Given the description of an element on the screen output the (x, y) to click on. 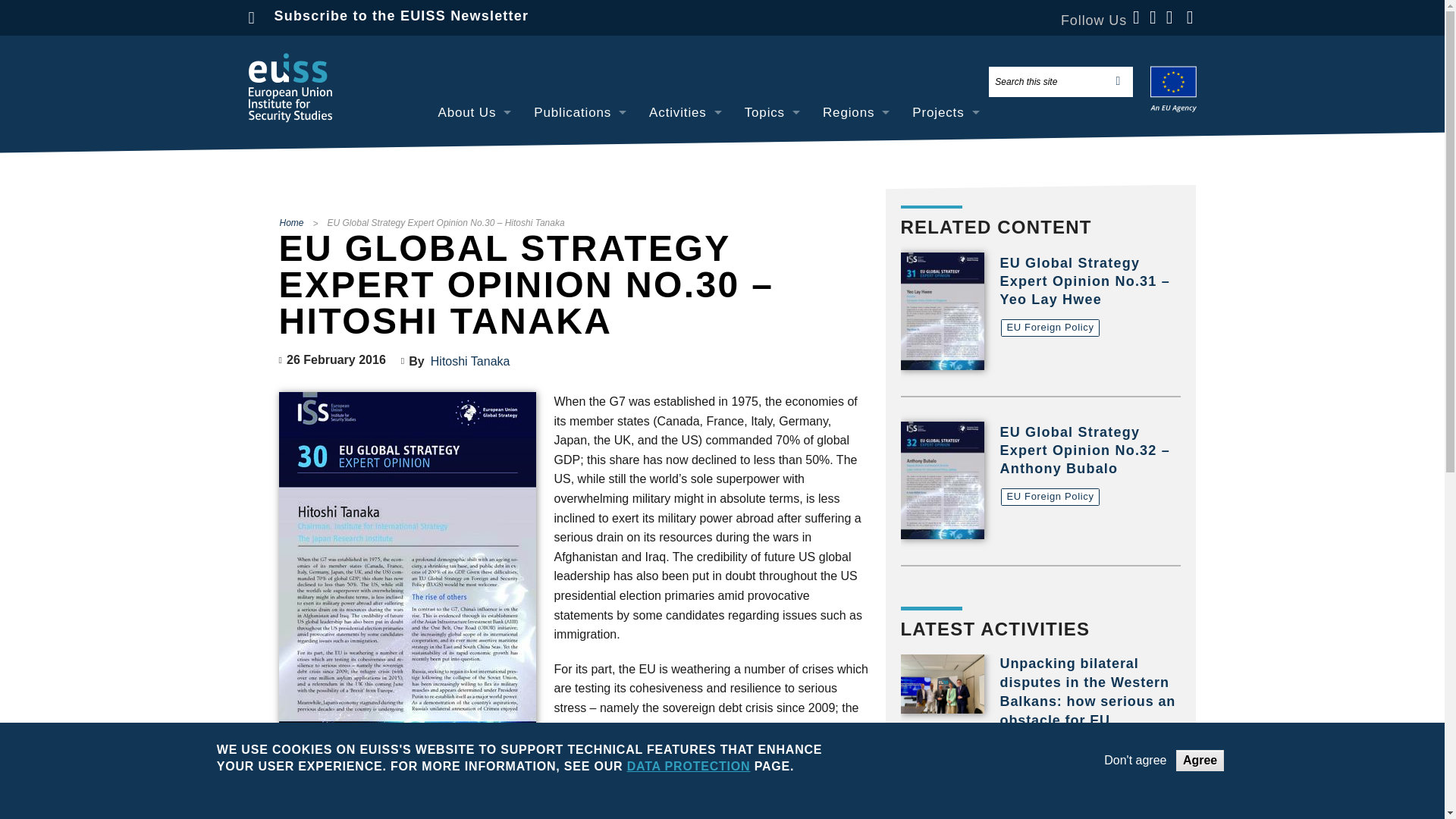
EU foreign policy (771, 146)
Podcast (685, 283)
Seminars (685, 180)
Opportunities (474, 283)
Task Forces (685, 214)
Conferences (685, 146)
Activities (685, 112)
Other Events (685, 248)
Trainees (474, 248)
